Given the description of an element on the screen output the (x, y) to click on. 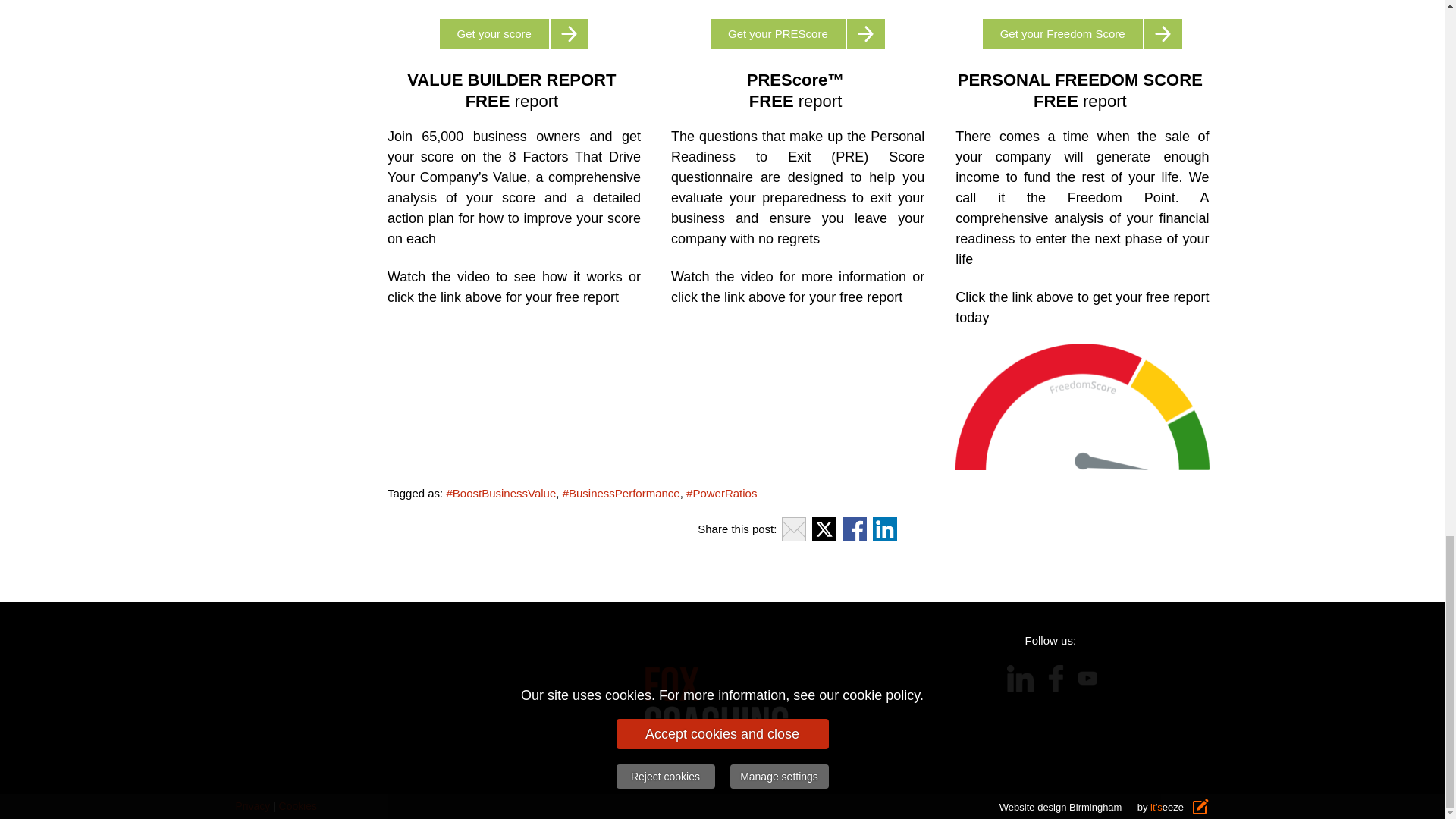
Get your PREScore (798, 34)
Get your score (513, 34)
Get your Freedom Score (1082, 34)
